Given the description of an element on the screen output the (x, y) to click on. 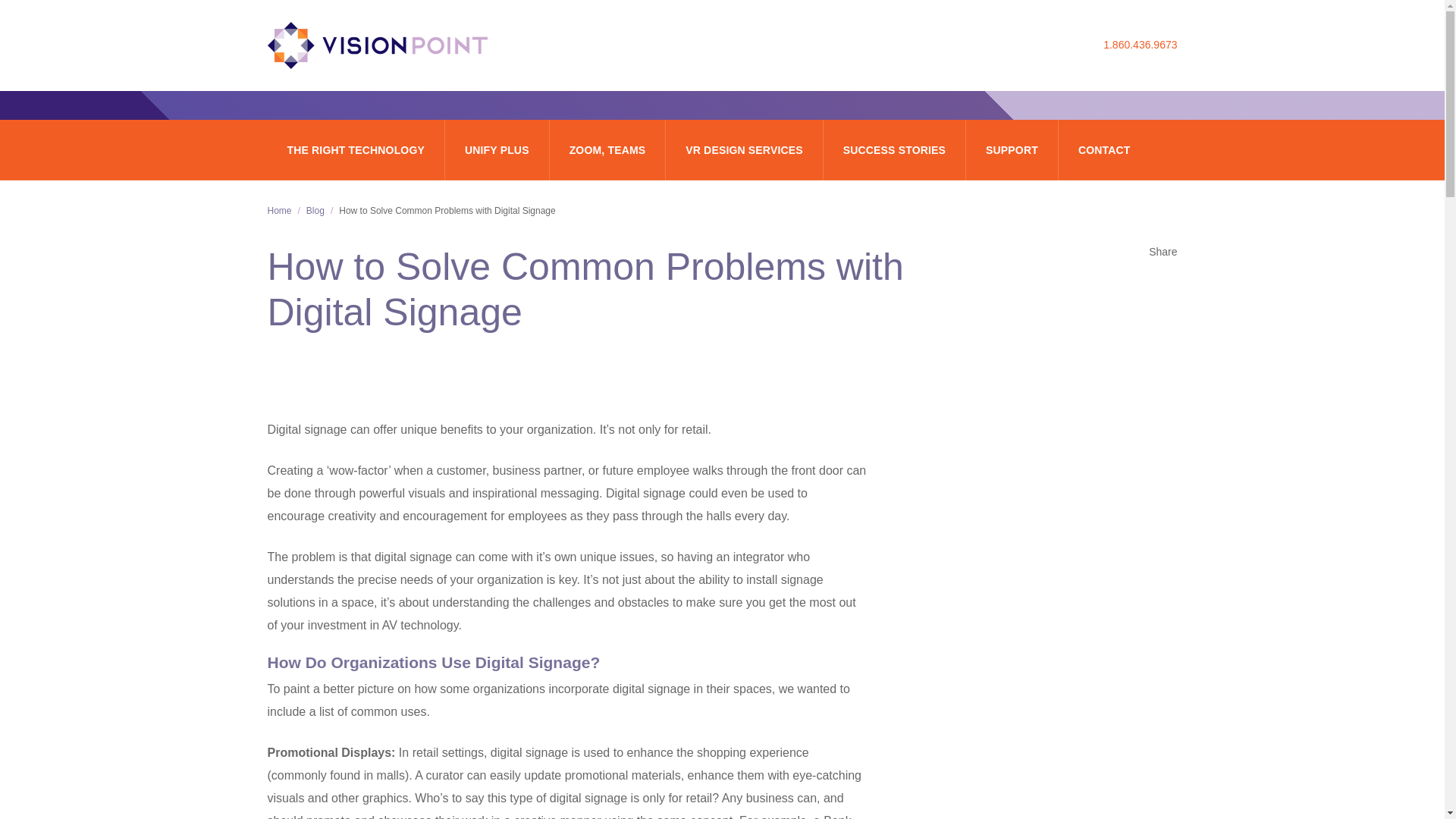
THE RIGHT TECHNOLOGY (355, 149)
SUPPORT (1012, 149)
ZOOM, TEAMS (608, 149)
SUCCESS STORIES (895, 149)
Blog (314, 210)
CONTACT (1104, 149)
UNIFY PLUS (497, 149)
Home (278, 210)
VR DESIGN SERVICES (743, 149)
